Given the description of an element on the screen output the (x, y) to click on. 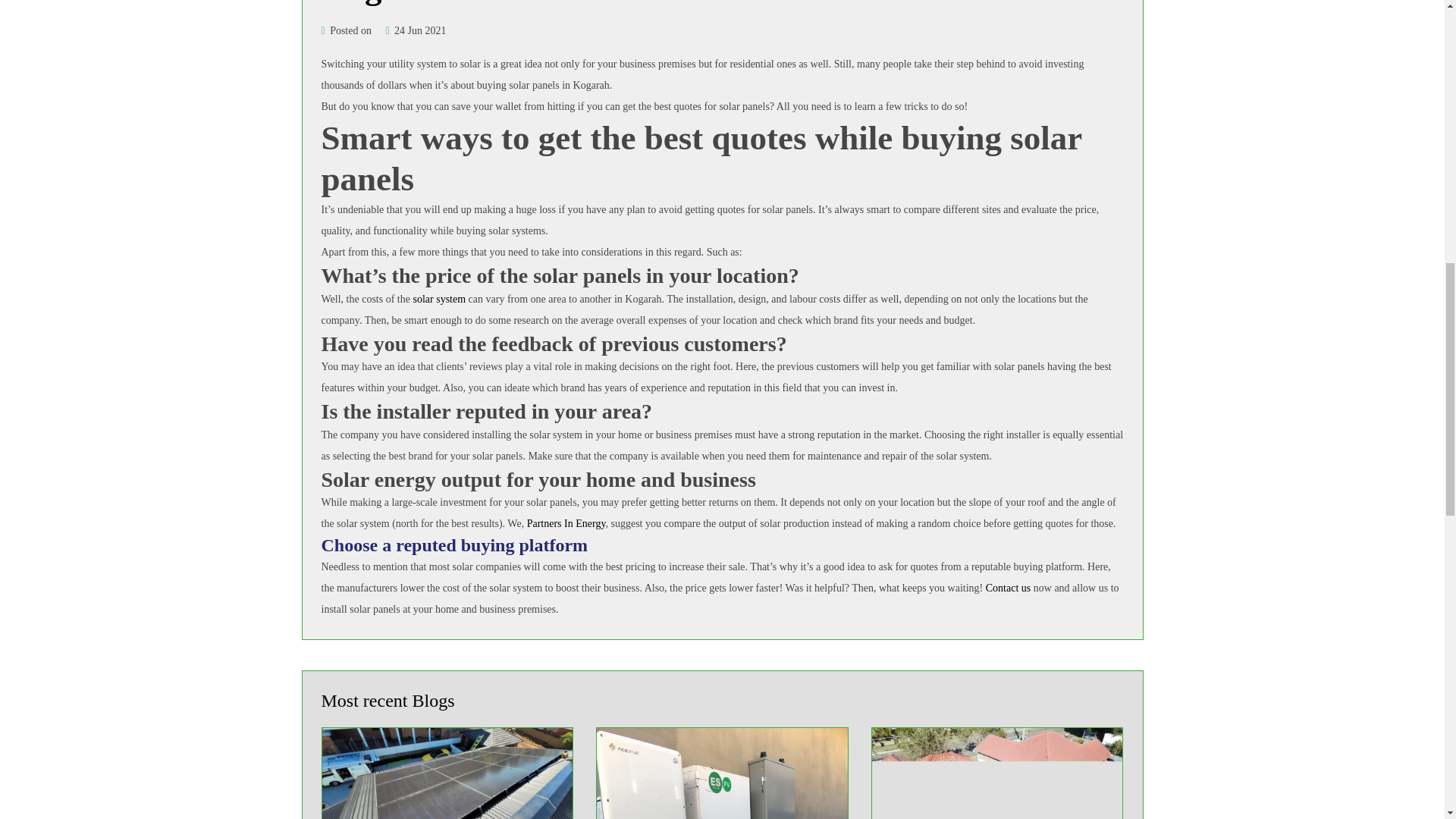
Partners In Energy (566, 523)
Contact us (1007, 587)
solar system (438, 298)
